Given the description of an element on the screen output the (x, y) to click on. 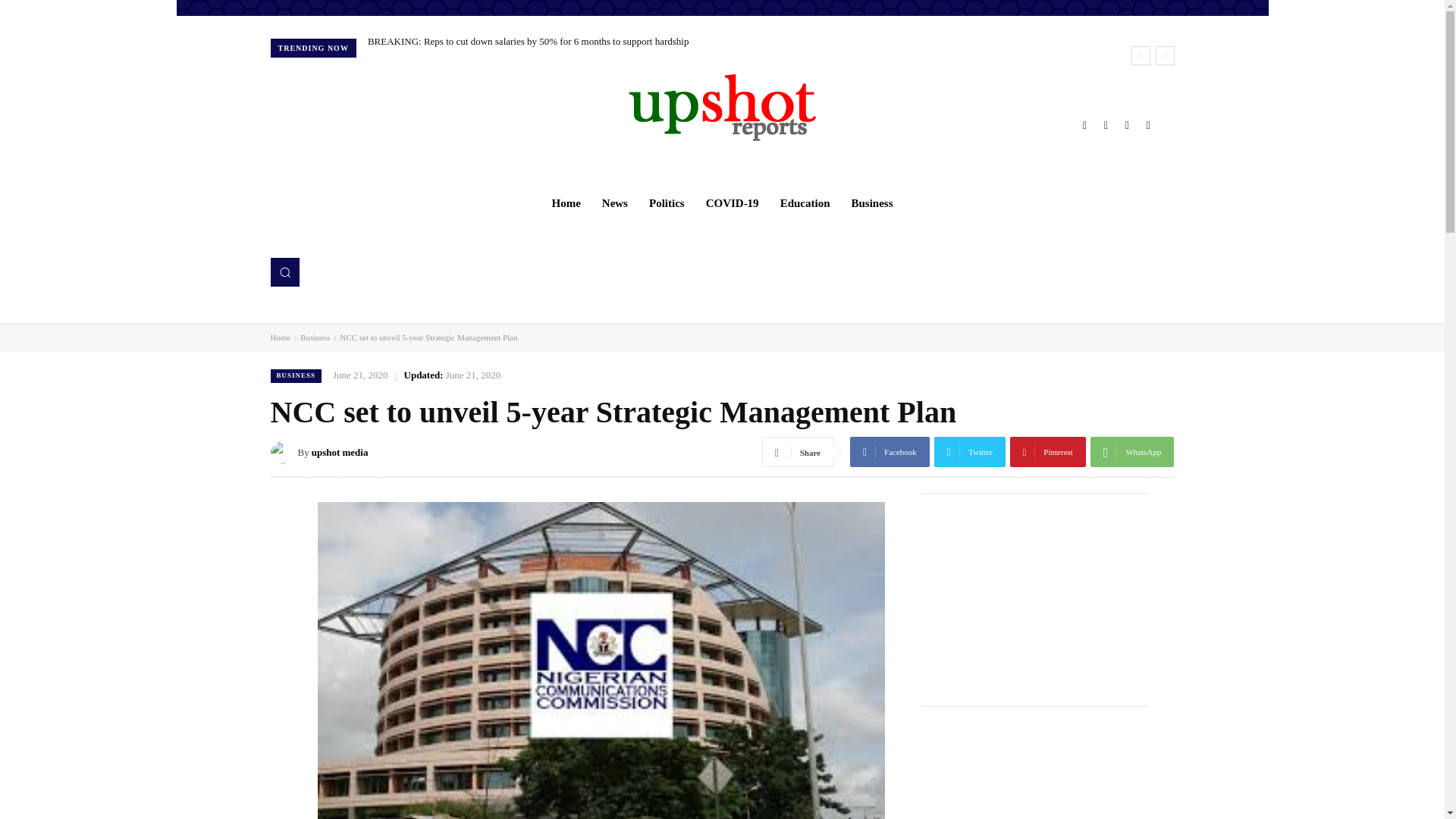
COVID-19 (732, 203)
Education (805, 203)
Business (871, 203)
Instagram (1105, 124)
Twitter (1126, 124)
Home (565, 203)
Youtube (1147, 124)
Politics (667, 203)
Facebook (1084, 124)
News (615, 203)
